Given the description of an element on the screen output the (x, y) to click on. 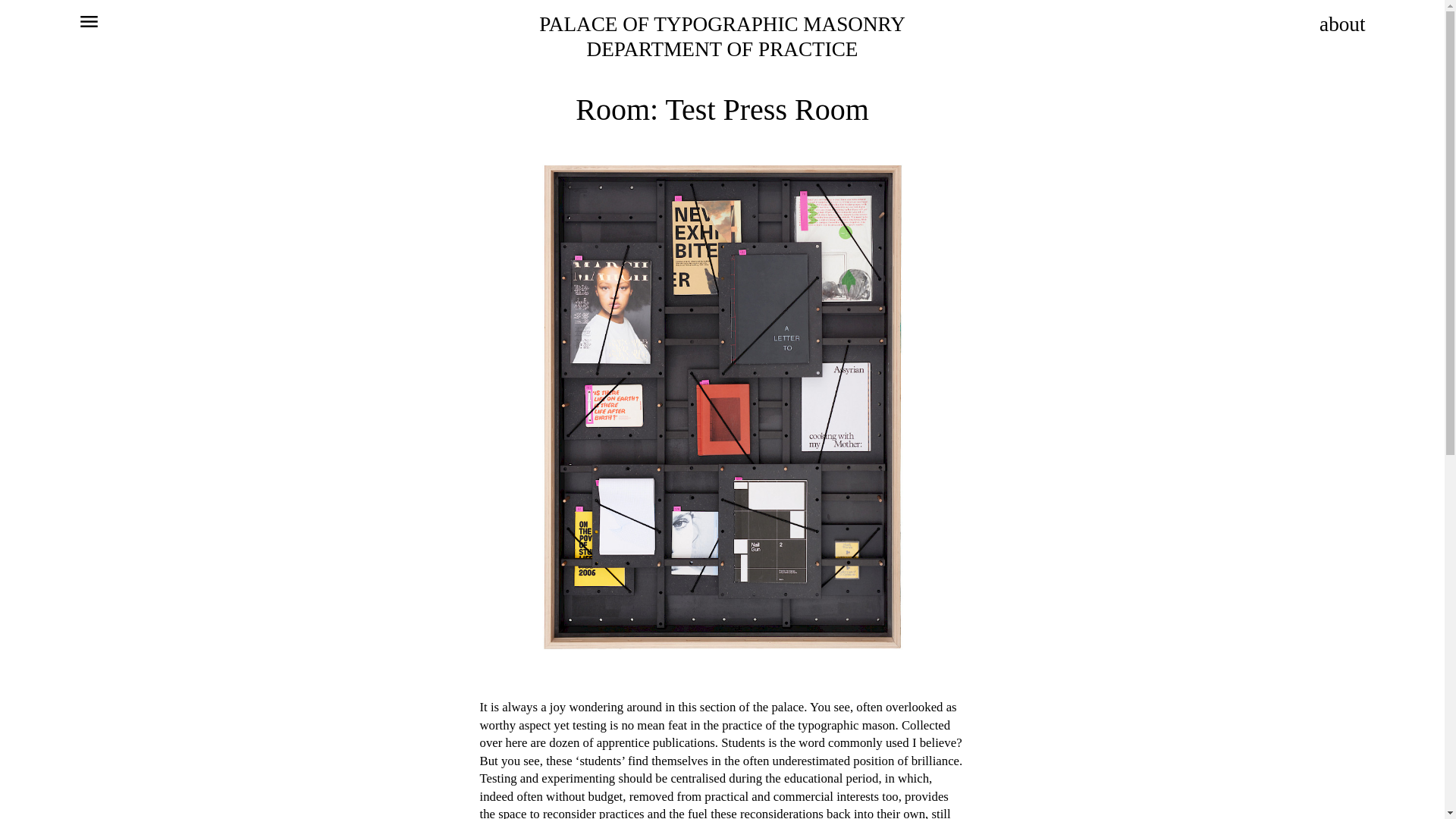
DEPARTMENT OF PRACTICE (722, 48)
about (1326, 24)
PALACE OF TYPOGRAPHIC MASONRY (721, 24)
